Given the description of an element on the screen output the (x, y) to click on. 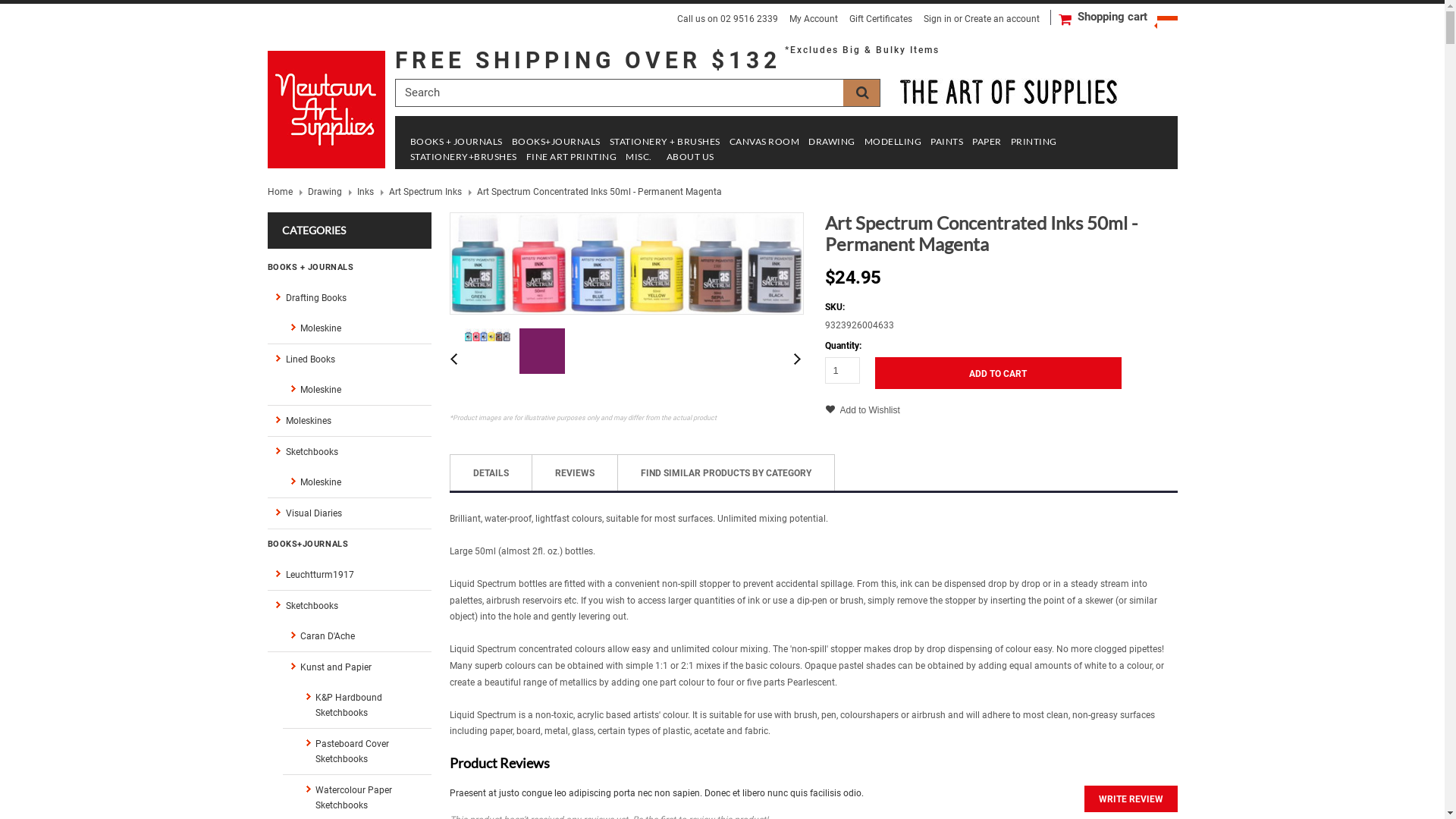
Art Spectrum Inks Element type: text (429, 190)
FREE SHIPPING OVER $132 *Excludes Big & Bulky Items Element type: text (666, 60)
Moleskines Element type: text (348, 419)
My Account Element type: text (812, 18)
K&P Hardbound Sketchbooks Element type: text (363, 705)
Sketchbooks Element type: text (348, 604)
PAPER Element type: text (986, 142)
PRINTING Element type: text (1033, 142)
Drafting Books Element type: text (348, 297)
PAINTS Element type: text (946, 142)
0 Element type: text (542, 363)
Image 2 Element type: hover (541, 350)
BOOKS + JOURNALS Element type: text (455, 142)
Add to Wishlist Element type: hover (870, 410)
DRAWING Element type: text (831, 142)
FIND SIMILAR PRODUCTS BY CATEGORY Element type: text (725, 473)
Drawing Element type: text (329, 190)
Image 1 Element type: hover (626, 262)
Caran D'Ache Element type: text (356, 635)
Gift Certificates Element type: text (880, 18)
Sketchbooks Element type: text (348, 451)
Lined Books Element type: text (348, 359)
Moleskine Element type: text (356, 327)
Add To Cart Element type: text (998, 372)
Sign in Element type: text (937, 18)
BOOKS + JOURNALS Element type: text (348, 266)
ABOUT US Element type: text (689, 157)
Kunst and Papier Element type: text (356, 667)
Image 1 Element type: hover (486, 334)
BOOKS+JOURNALS Element type: text (348, 544)
Inks Element type: text (369, 190)
DETAILS Element type: text (489, 473)
STATIONERY+BRUSHES Element type: text (462, 157)
0 Element type: text (488, 363)
BOOKS+JOURNALS Element type: text (555, 142)
STATIONERY + BRUSHES Element type: text (664, 142)
Shopping cart Element type: text (1126, 16)
Search Element type: hover (861, 91)
Pasteboard Cover Sketchbooks Element type: text (363, 750)
Moleskine Element type: text (356, 389)
Home Element type: text (283, 190)
WRITE REVIEW Element type: text (1130, 798)
Leuchtturm1917 Element type: text (348, 574)
MISC. Element type: text (638, 157)
FINE ART PRINTING Element type: text (571, 157)
Visual Diaries Element type: text (348, 512)
Create an account Element type: text (1001, 18)
REVIEWS Element type: text (575, 473)
MODELLING Element type: text (893, 142)
Moleskine Element type: text (356, 482)
CANVAS ROOM Element type: text (764, 142)
